Given the description of an element on the screen output the (x, y) to click on. 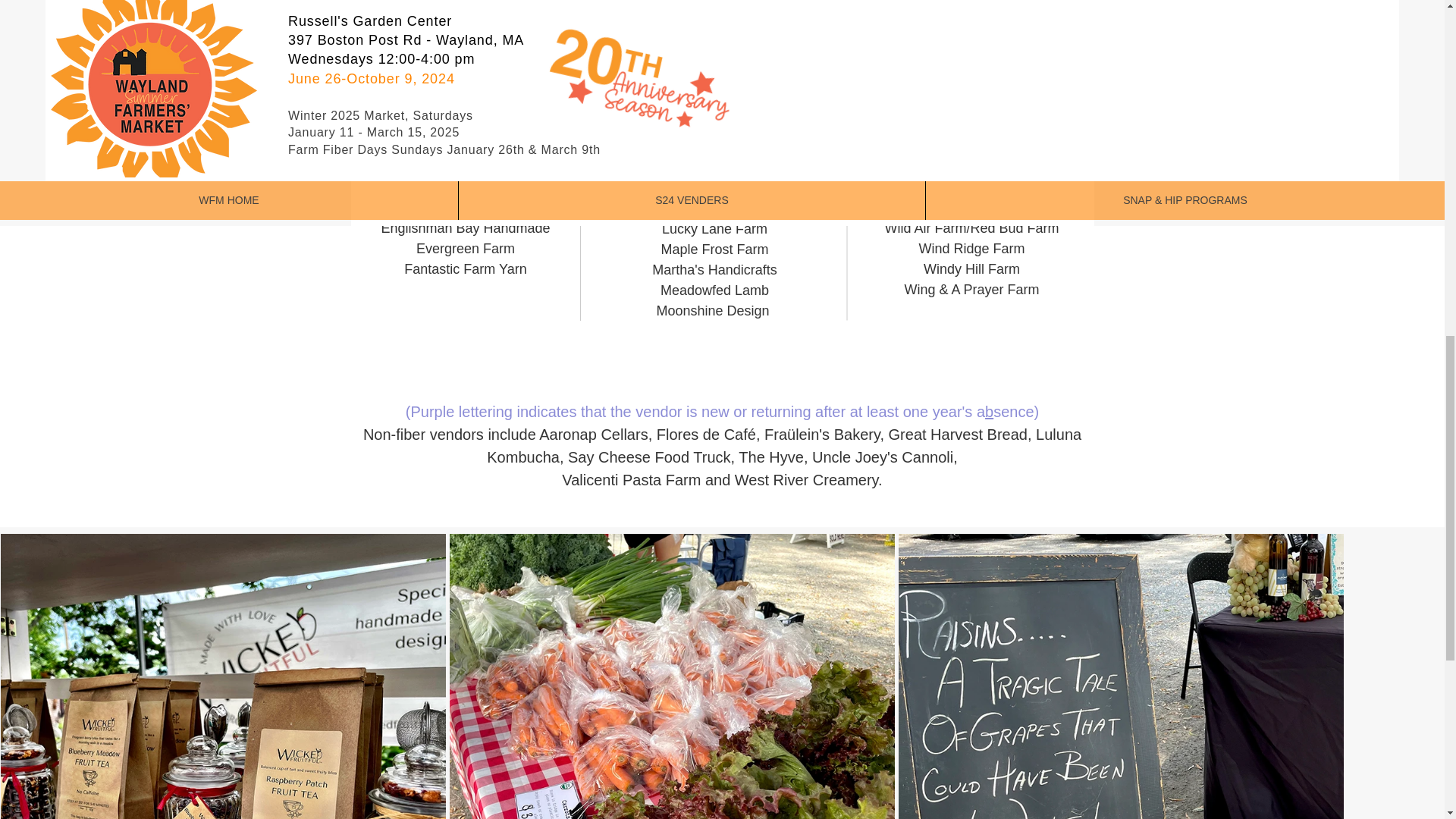
Herd Supply (714, 5)
Dirty Water DyeWorks (464, 166)
Jagger Spun (713, 105)
Biltmore Wool Barn (465, 5)
Boondoggle Farm (464, 84)
Evergreen Farm (465, 248)
JMR Studio (714, 126)
ColeMama Creations (465, 145)
Blue Heron Farm (464, 43)
Islay's Terrace (714, 85)
